Given the description of an element on the screen output the (x, y) to click on. 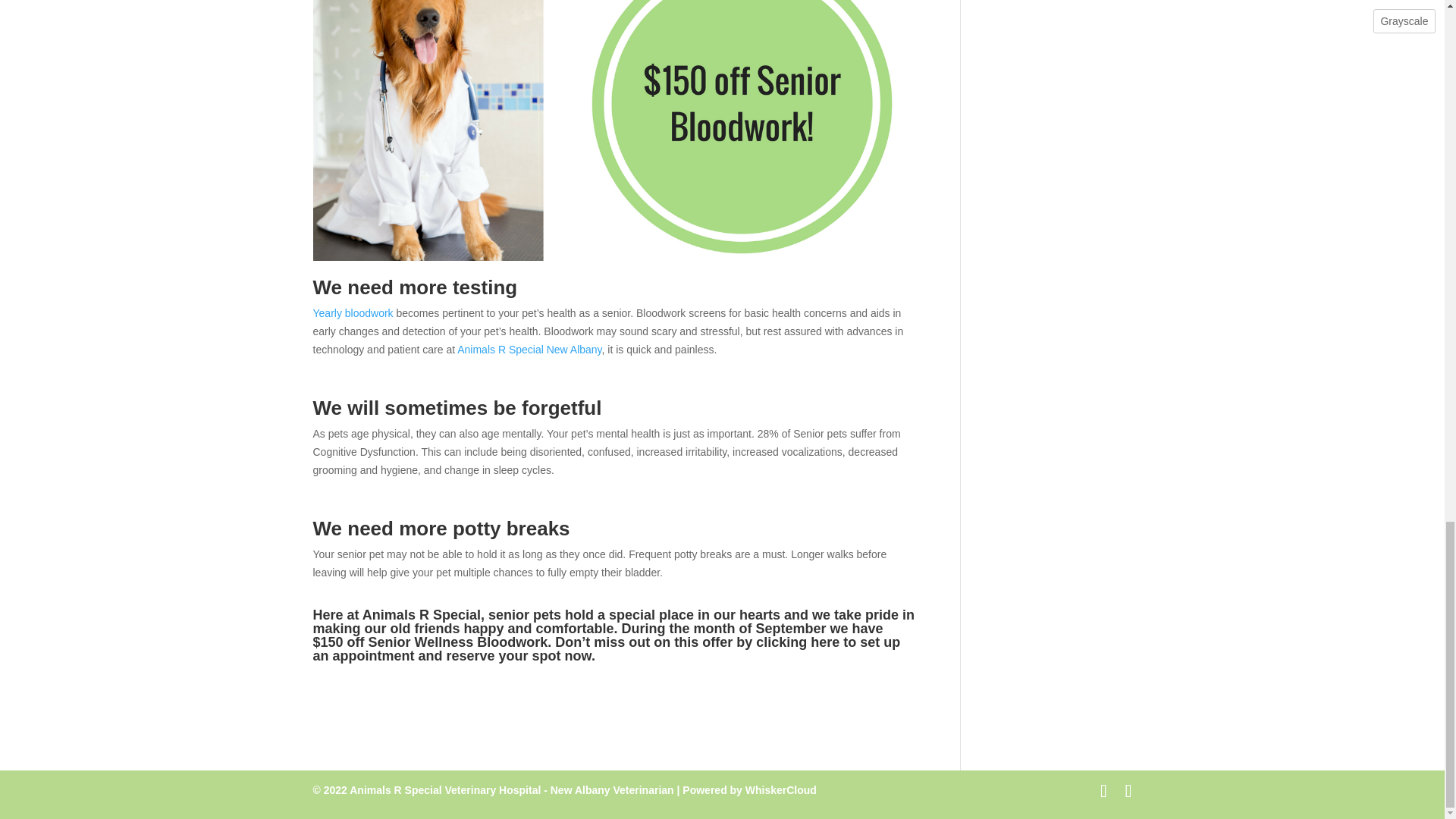
Yearly bloodwork (353, 313)
Animals R Special New Albany (529, 349)
clicking here (796, 642)
